Given the description of an element on the screen output the (x, y) to click on. 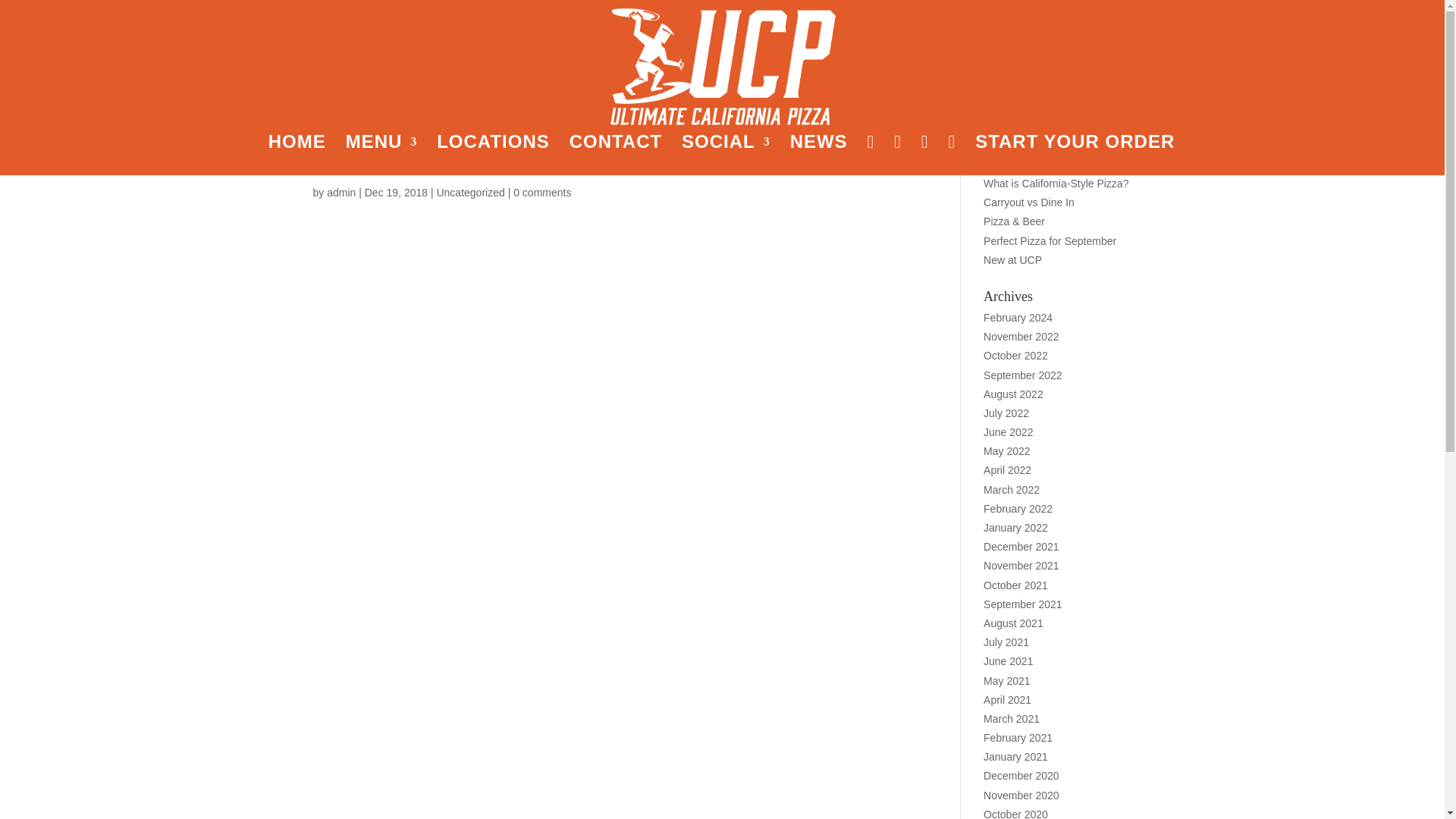
MENU (381, 153)
Uncategorized (469, 192)
NEWS (818, 153)
March 2022 (1011, 490)
October 2022 (1016, 355)
New at UCP (1013, 259)
April 2022 (1007, 469)
Posts by admin (340, 192)
November 2022 (1021, 336)
LOCATIONS (493, 153)
